Given the description of an element on the screen output the (x, y) to click on. 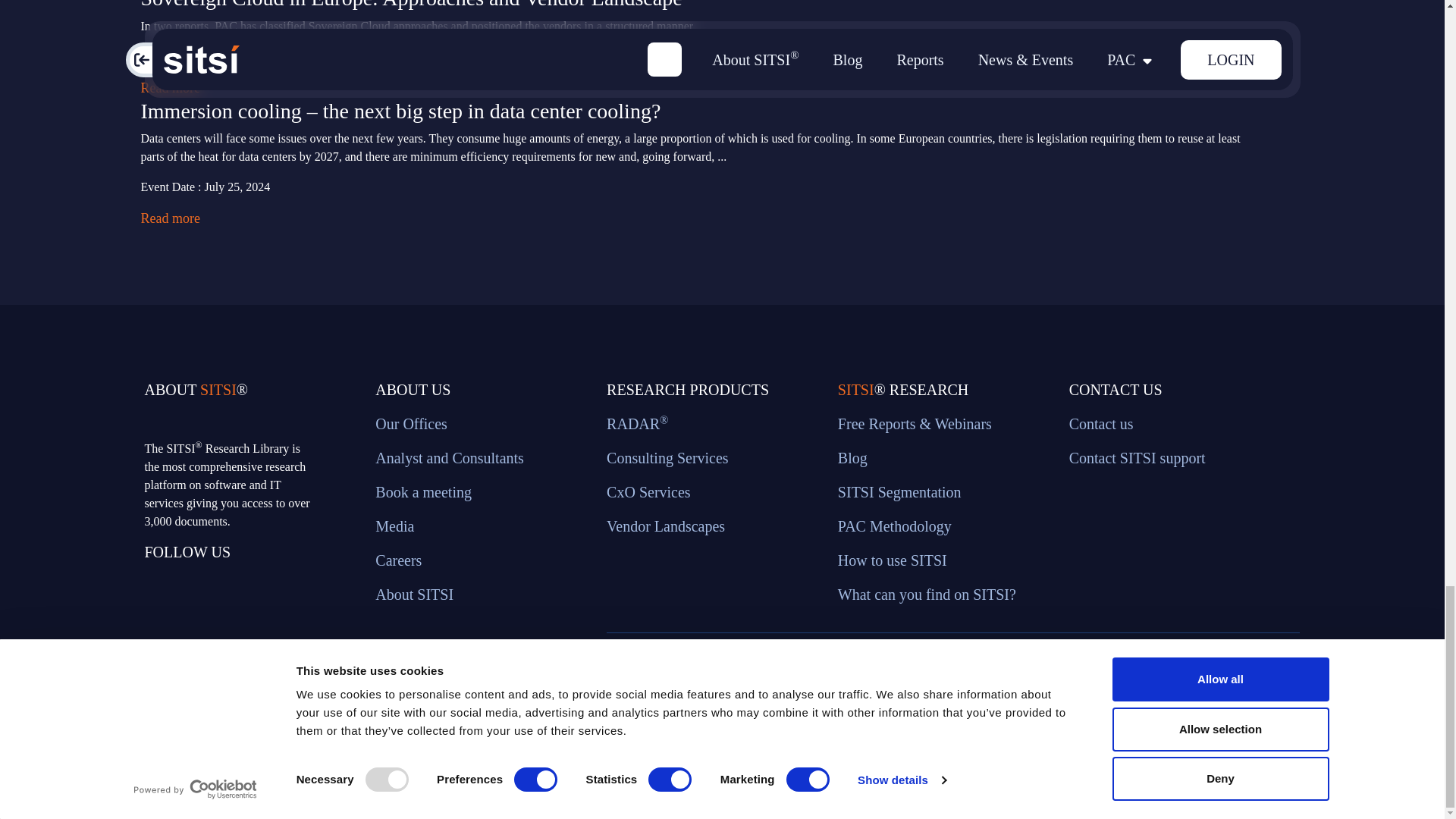
Youtube (303, 629)
Twitter (157, 629)
Linkedin (230, 629)
